Given the description of an element on the screen output the (x, y) to click on. 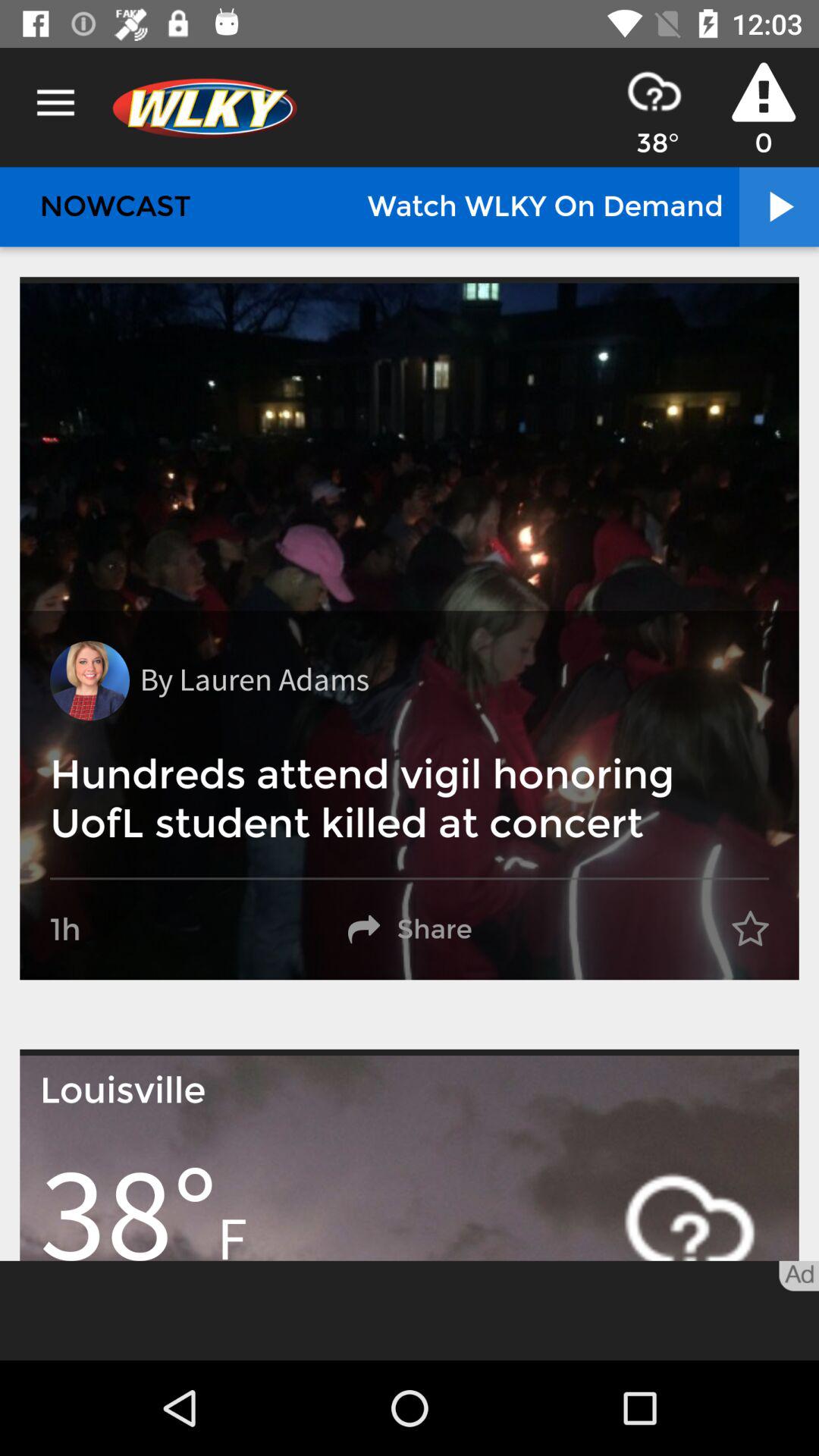
press the item on the right (750, 929)
